Given the description of an element on the screen output the (x, y) to click on. 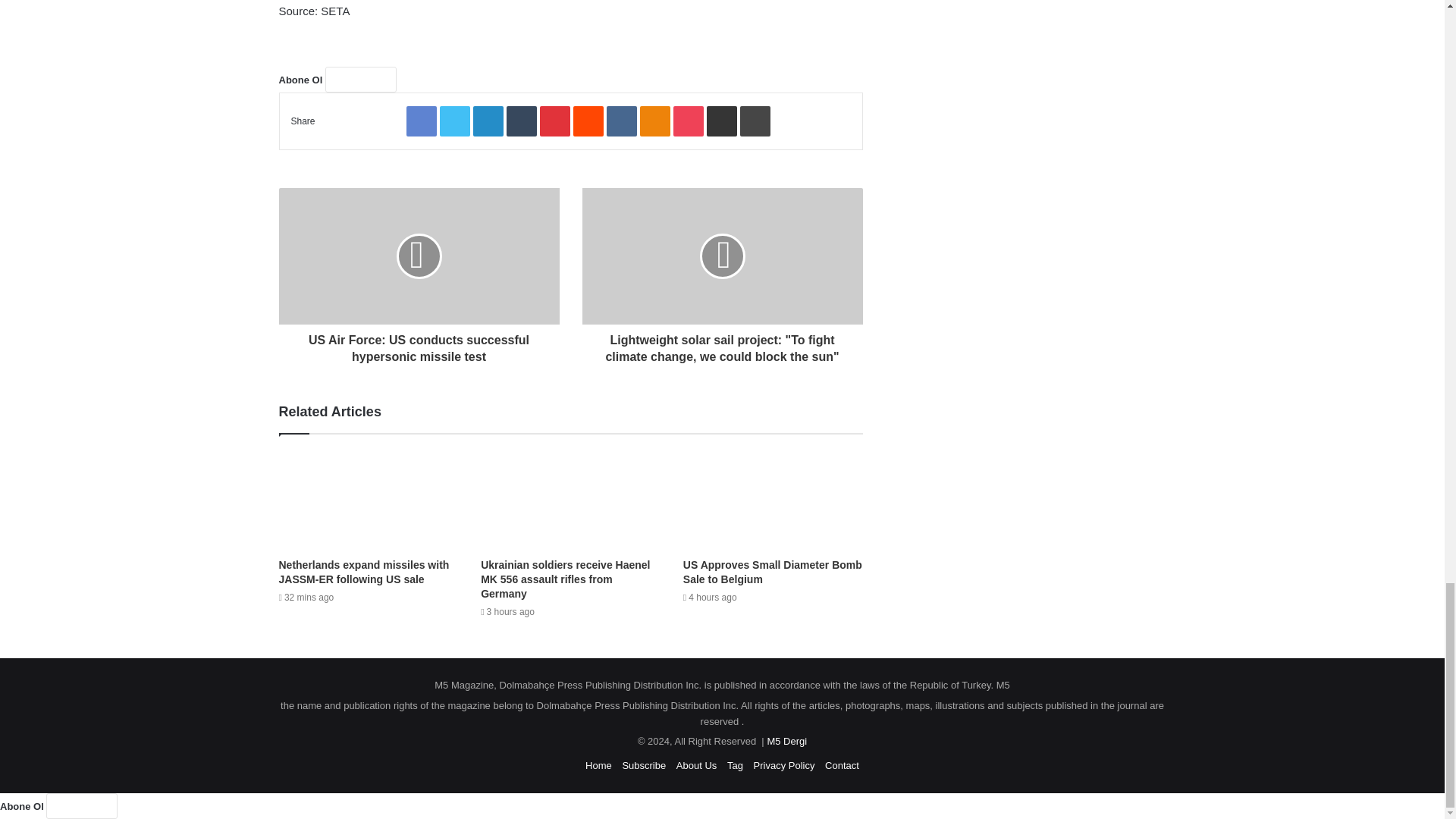
Abone Ol (360, 79)
